Given the description of an element on the screen output the (x, y) to click on. 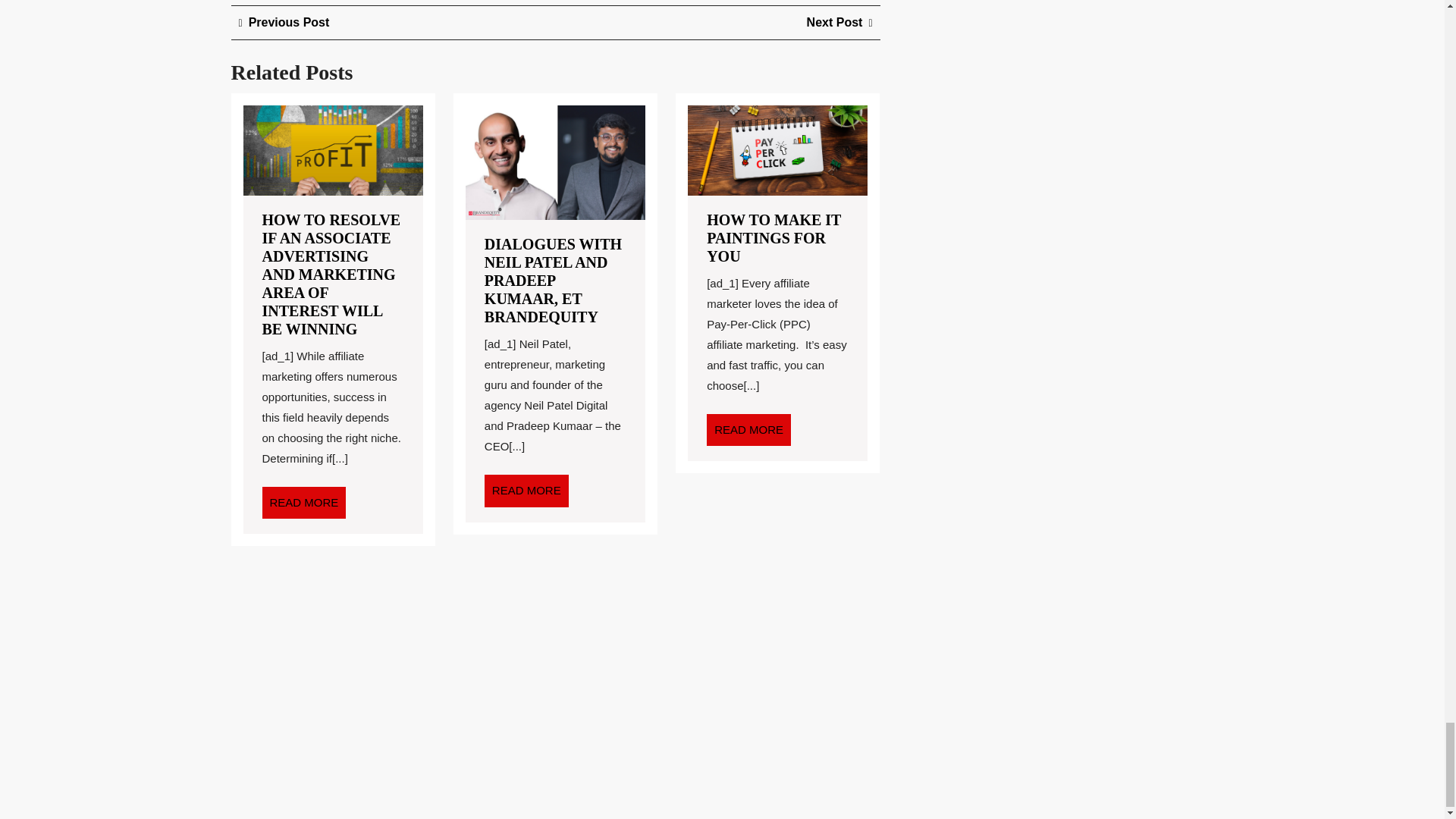
READ MORE (748, 429)
READ MORE (304, 502)
READ MORE (526, 490)
